Given the description of an element on the screen output the (x, y) to click on. 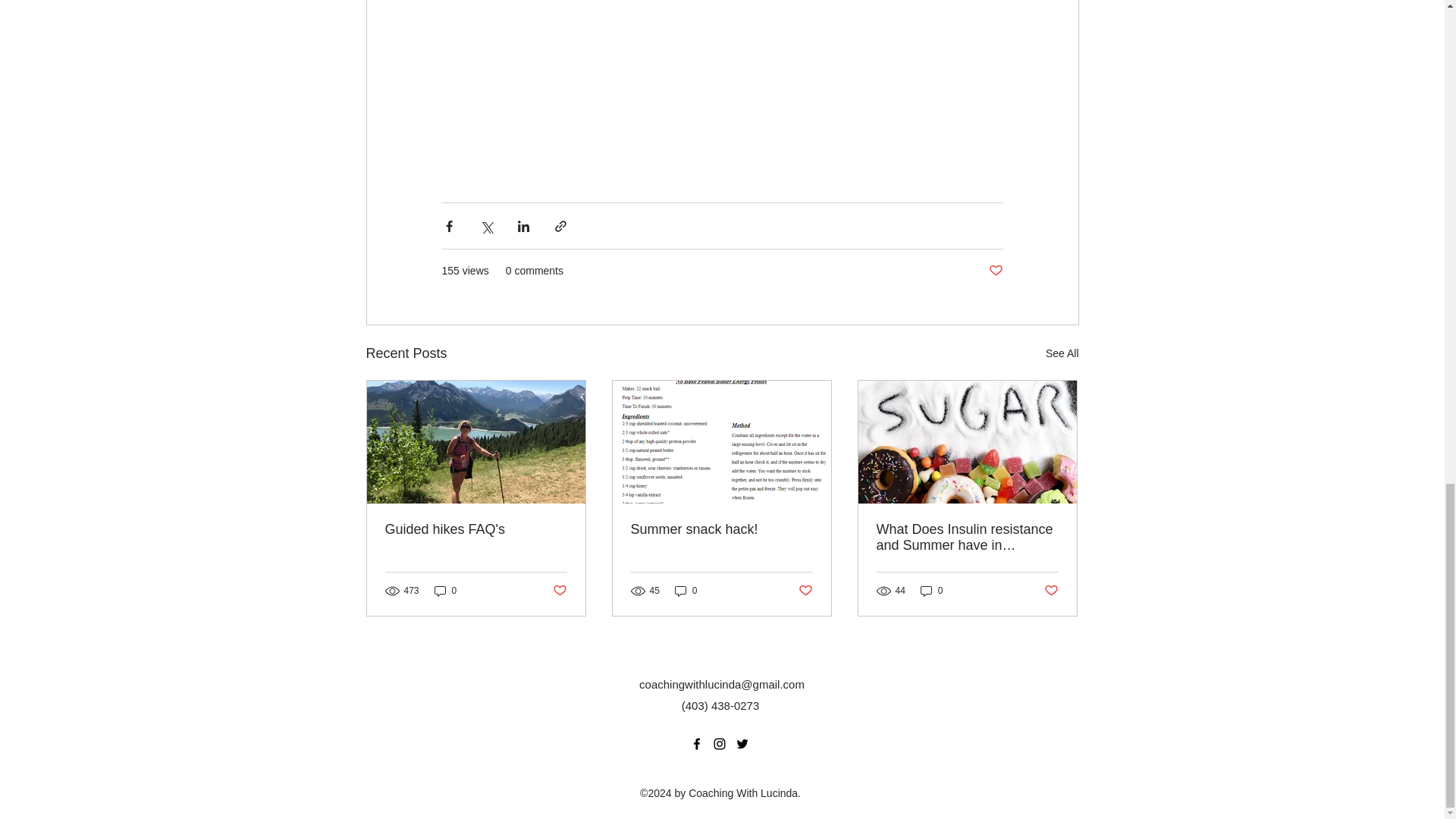
Guided hikes FAQ's (476, 529)
0 (445, 590)
Summer snack hack! (721, 529)
Post not marked as liked (558, 590)
See All (1061, 353)
Post not marked as liked (995, 270)
